Given the description of an element on the screen output the (x, y) to click on. 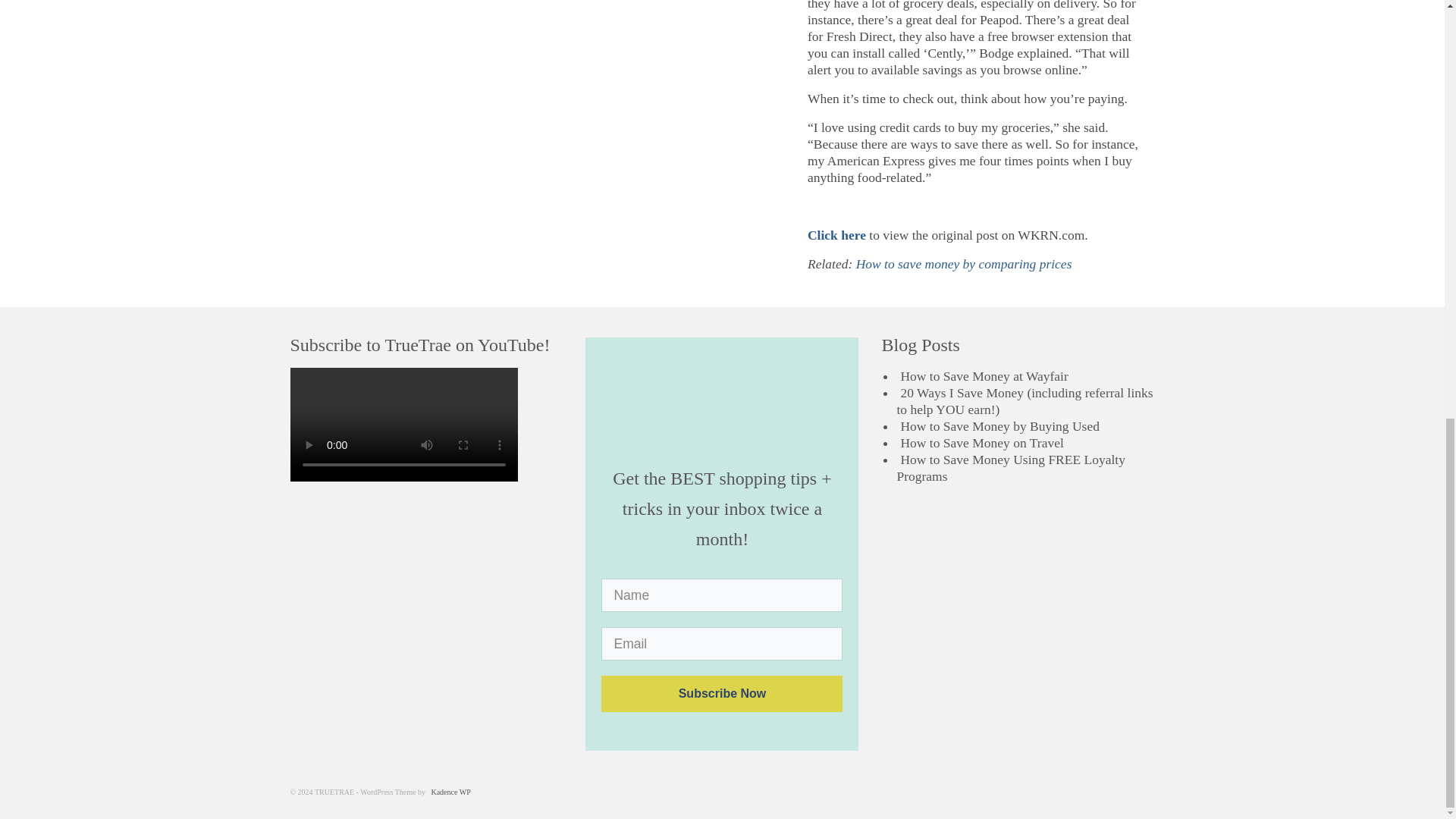
800 smart shopper (721, 407)
